Given the description of an element on the screen output the (x, y) to click on. 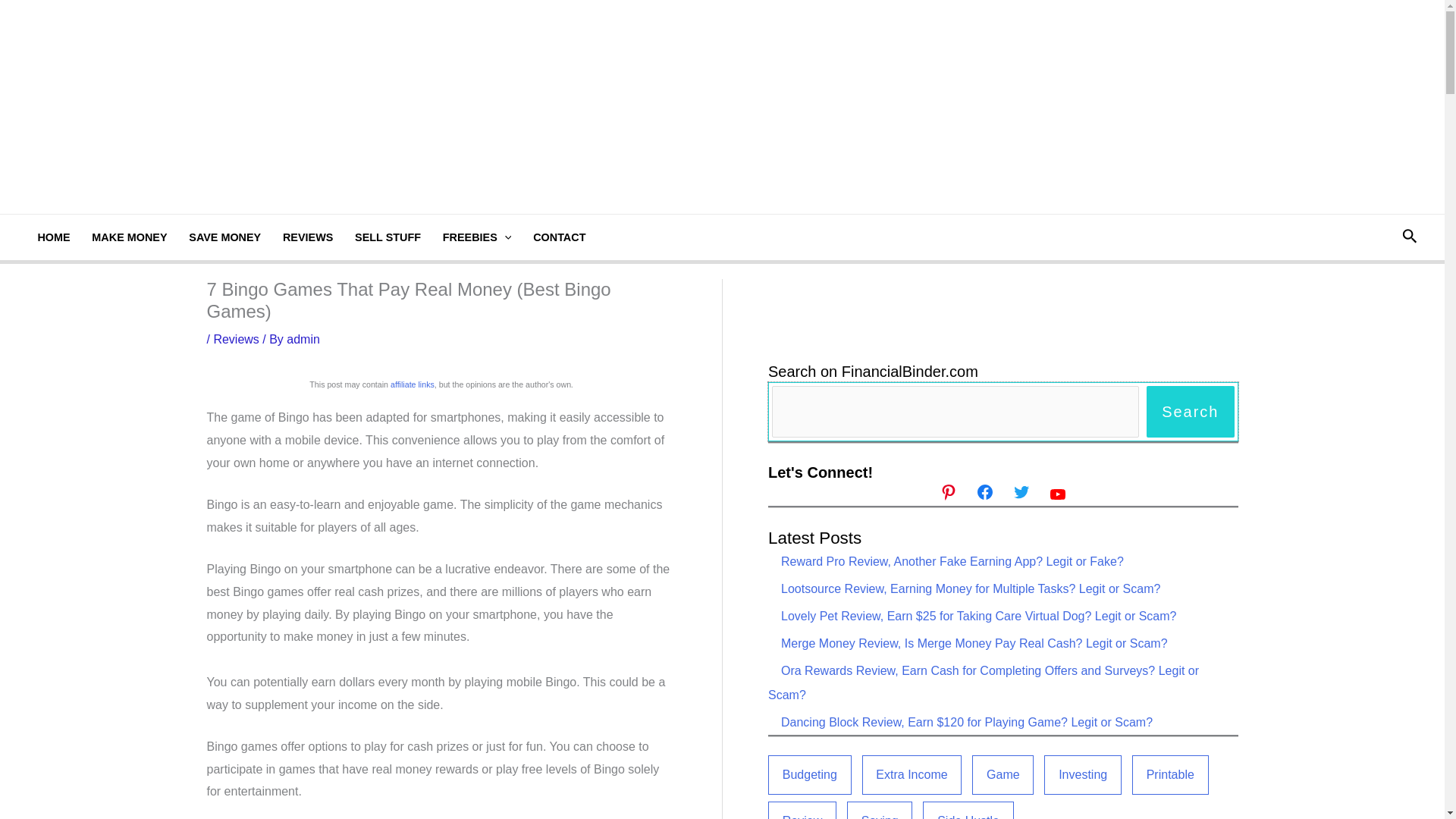
SAVE MONEY (224, 237)
HOME (53, 237)
admin (303, 338)
REVIEWS (307, 237)
Reviews (235, 338)
SELL STUFF (387, 237)
affiliate links (411, 384)
CONTACT (559, 237)
MAKE MONEY (129, 237)
FREEBIES (475, 237)
View all posts by admin (303, 338)
